Given the description of an element on the screen output the (x, y) to click on. 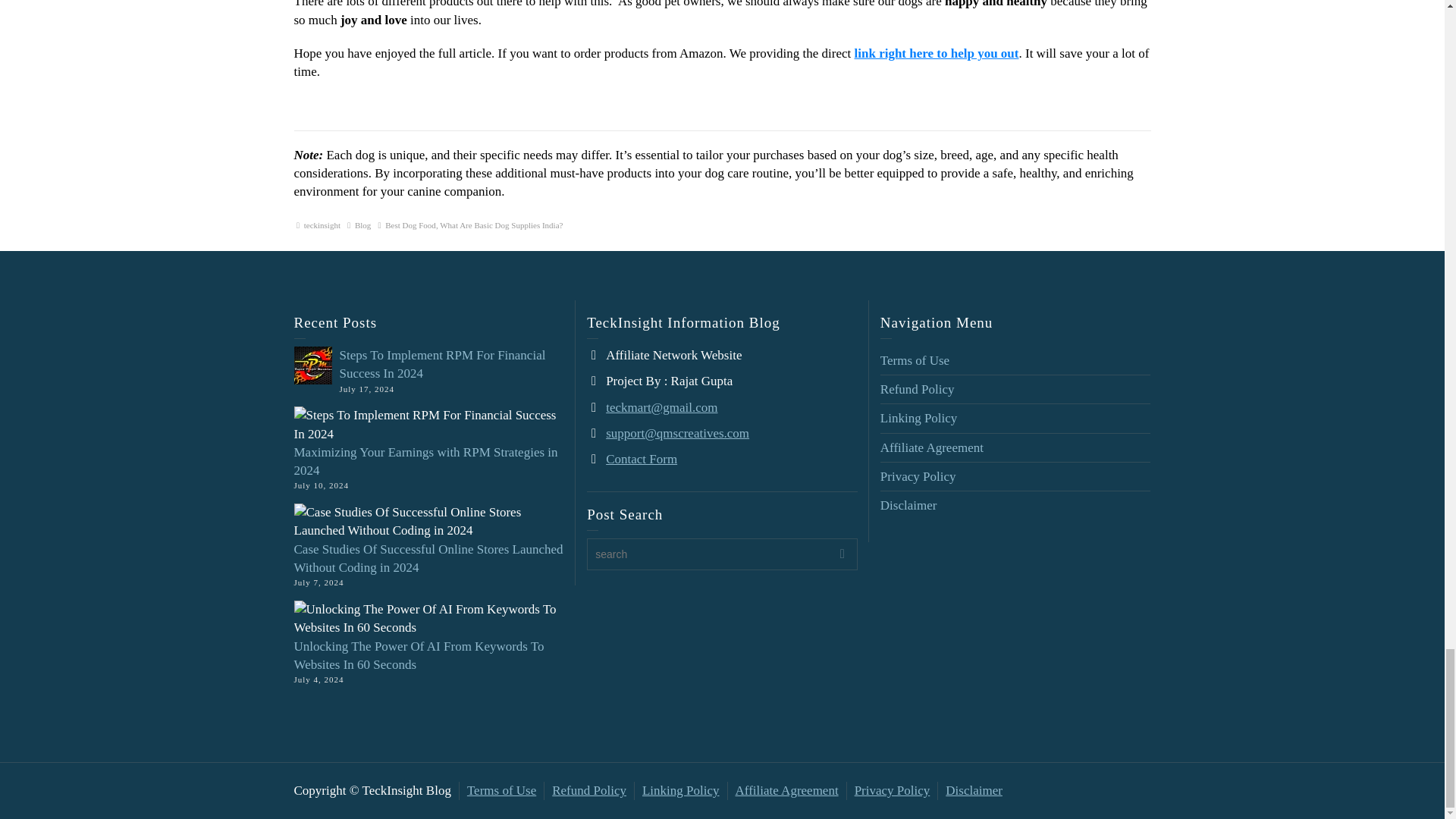
What Are Basic Dog Supplies India? (500, 225)
Contact Form (641, 459)
Steps To Implement RPM For Financial Success In 2024 (442, 364)
teckinsight (322, 225)
link right here to help you out (936, 52)
Blog (363, 225)
Maximizing Your Earnings with RPM Strategies in 2024 (425, 461)
Steps To Implement RPM For Financial Success In 2024 (442, 364)
Posts by teckinsight (322, 225)
Maximizing Your Earnings with RPM Strategies in 2024 (425, 461)
Best Dog Food (410, 225)
